Given the description of an element on the screen output the (x, y) to click on. 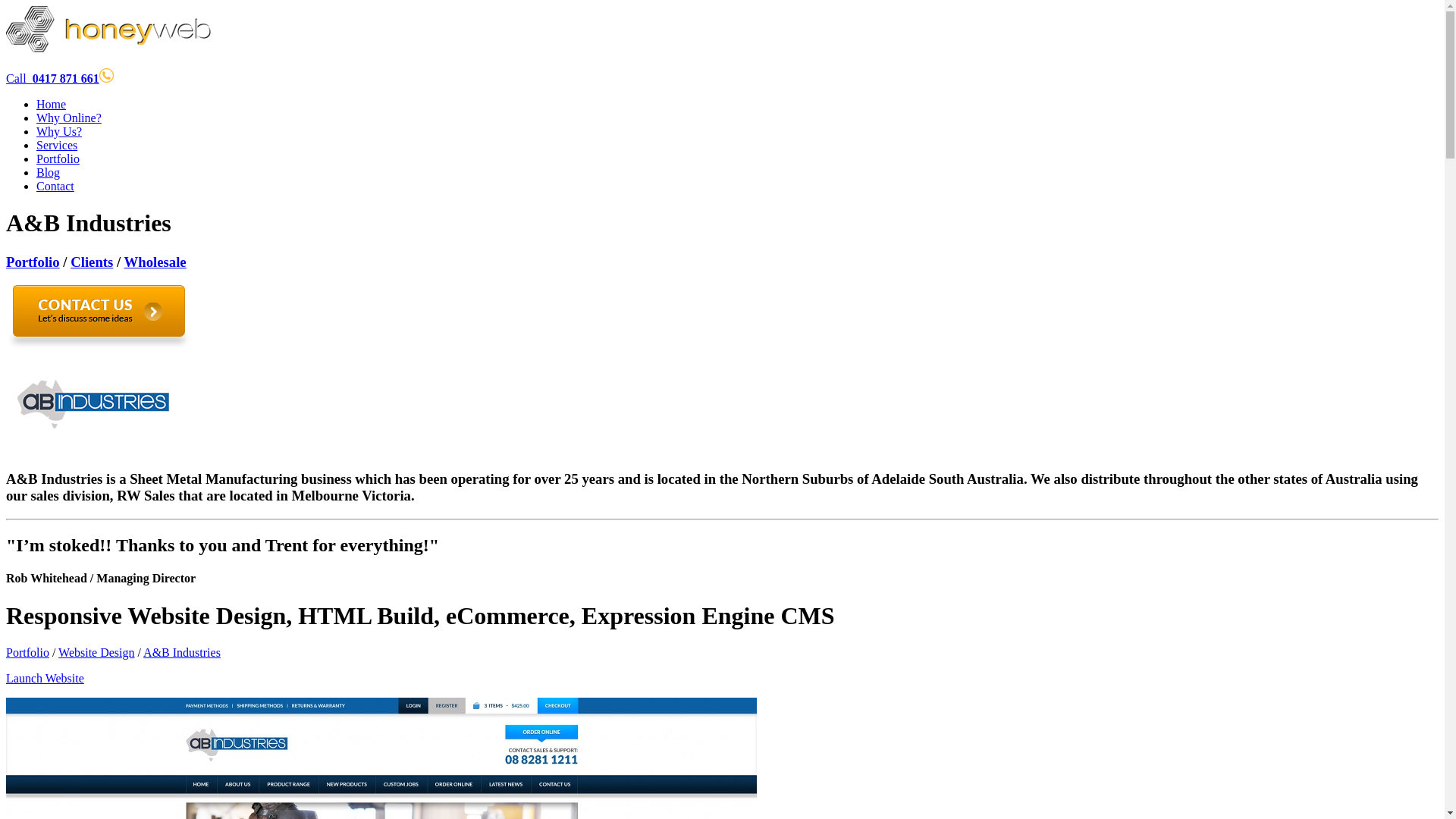
Portfolio Element type: text (32, 261)
A&B Industries Element type: text (181, 652)
Website Design Element type: text (96, 652)
Blog Element type: text (47, 172)
Home Element type: text (50, 103)
Contact Element type: text (55, 185)
Services Element type: text (56, 144)
Launch Website Element type: text (45, 677)
Wholesale Element type: text (155, 261)
Call  0417 871 661 Element type: text (52, 78)
Portfolio Element type: text (57, 158)
Portfolio Element type: text (27, 652)
Clients Element type: text (91, 261)
Why Online? Element type: text (68, 117)
Why Us? Element type: text (58, 131)
